Given the description of an element on the screen output the (x, y) to click on. 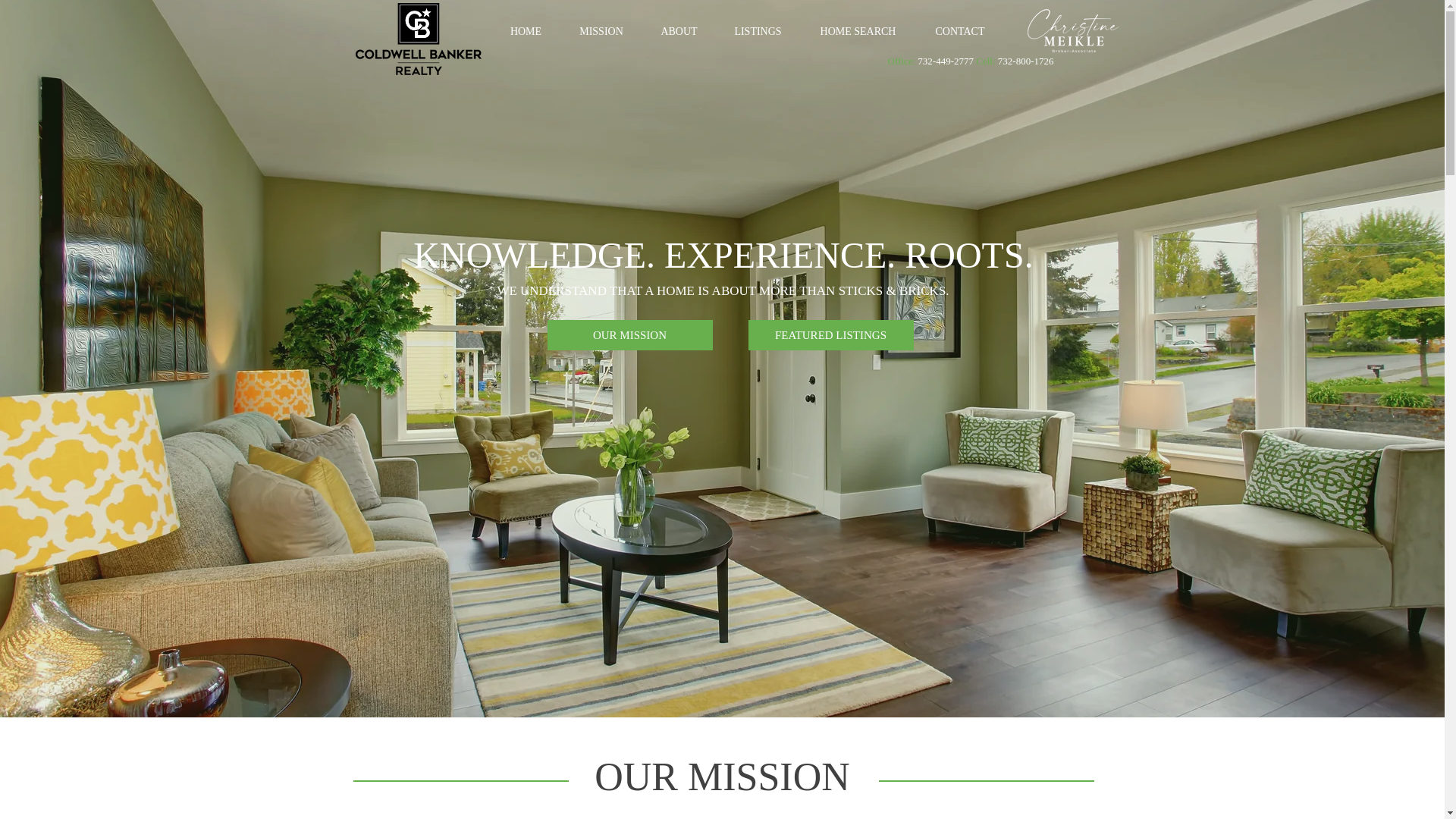
ABOUT (679, 31)
LISTINGS (757, 31)
HOME (526, 31)
HOME SEARCH (857, 31)
OUR MISSION (630, 335)
732-449-2777 (945, 60)
FEATURED LISTINGS (830, 335)
MISSION (601, 31)
732-800-1726 (1025, 60)
CONTACT (959, 31)
